Given the description of an element on the screen output the (x, y) to click on. 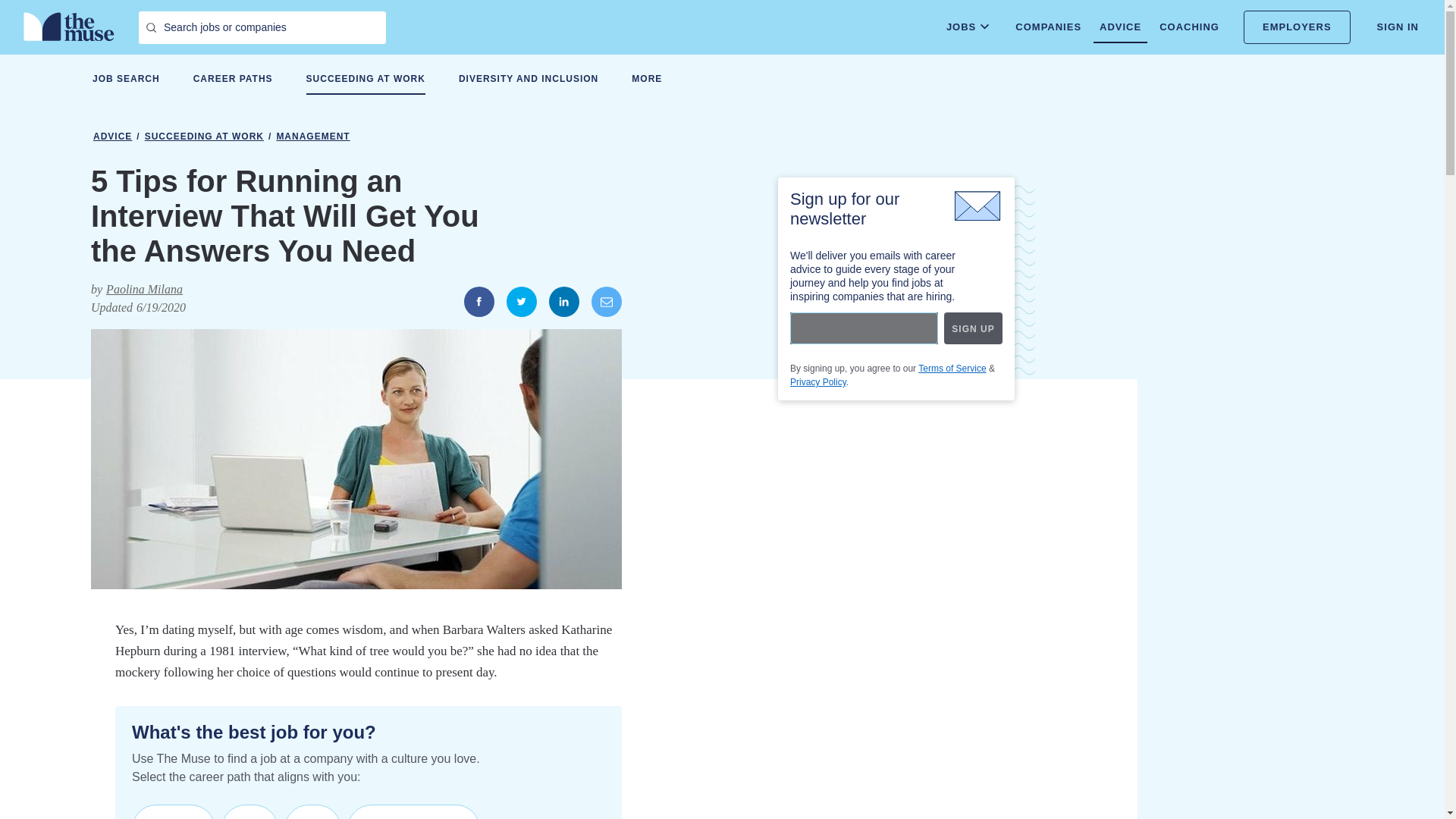
COMPANIES (1048, 27)
COACHING (1189, 27)
ADVICE (1120, 27)
SIGN IN (1398, 27)
EMPLOYERS (1297, 27)
